Given the description of an element on the screen output the (x, y) to click on. 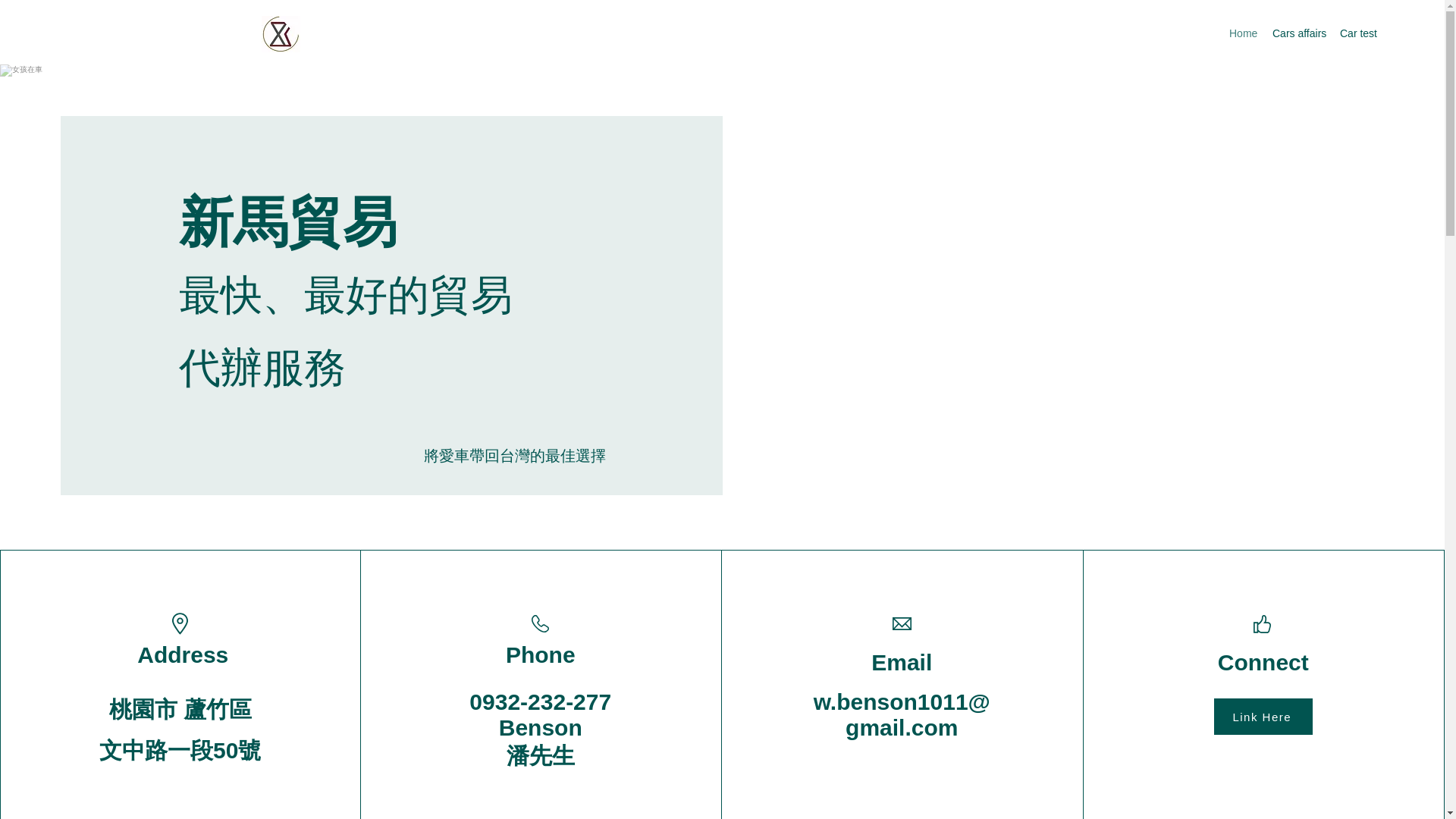
Home (1243, 33)
Link Here (1263, 716)
Cars affairs (1298, 33)
Car test (1358, 33)
